Given the description of an element on the screen output the (x, y) to click on. 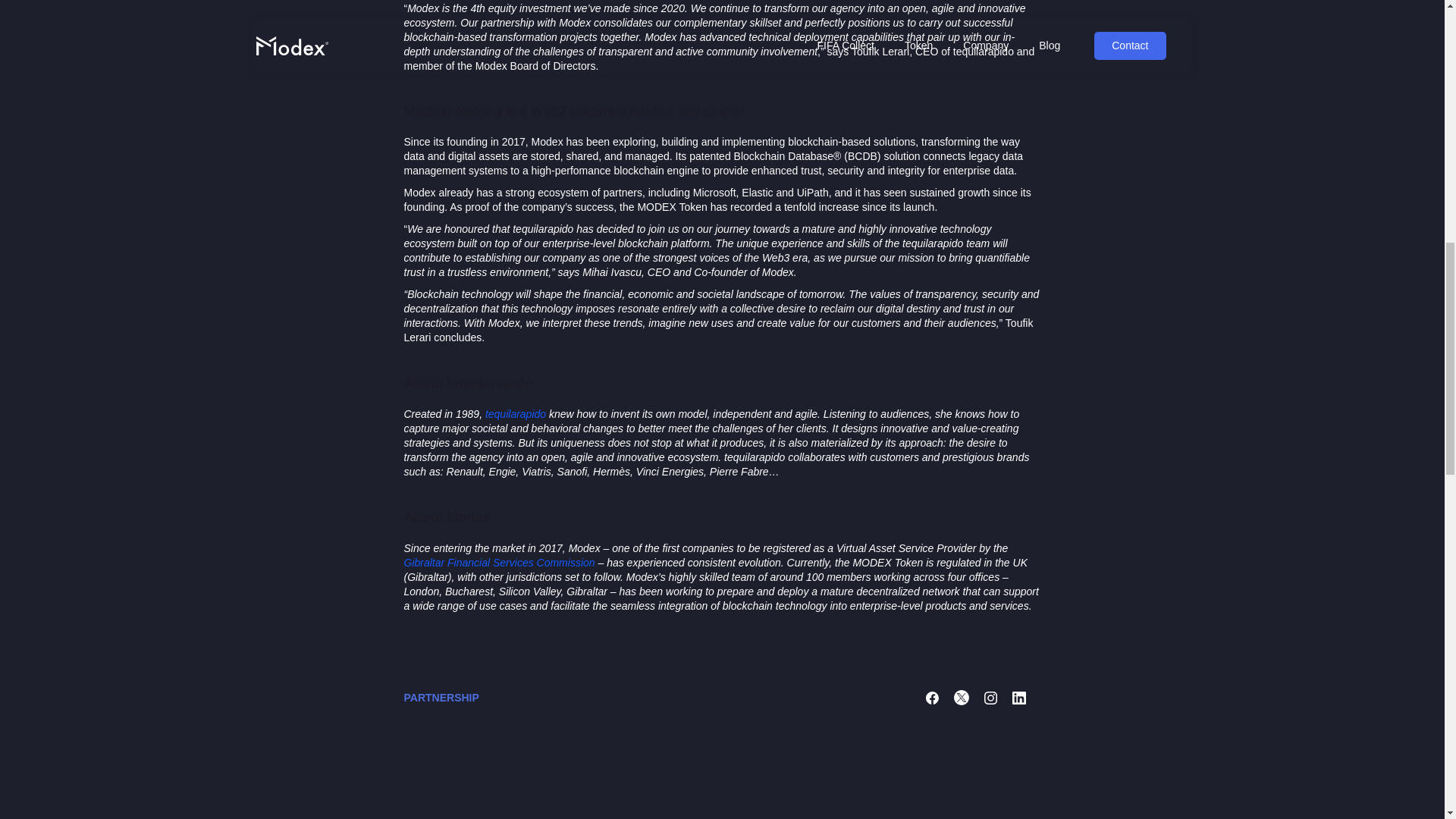
Gibraltar Financial Services Commission (498, 562)
tequilarapido (515, 413)
